Given the description of an element on the screen output the (x, y) to click on. 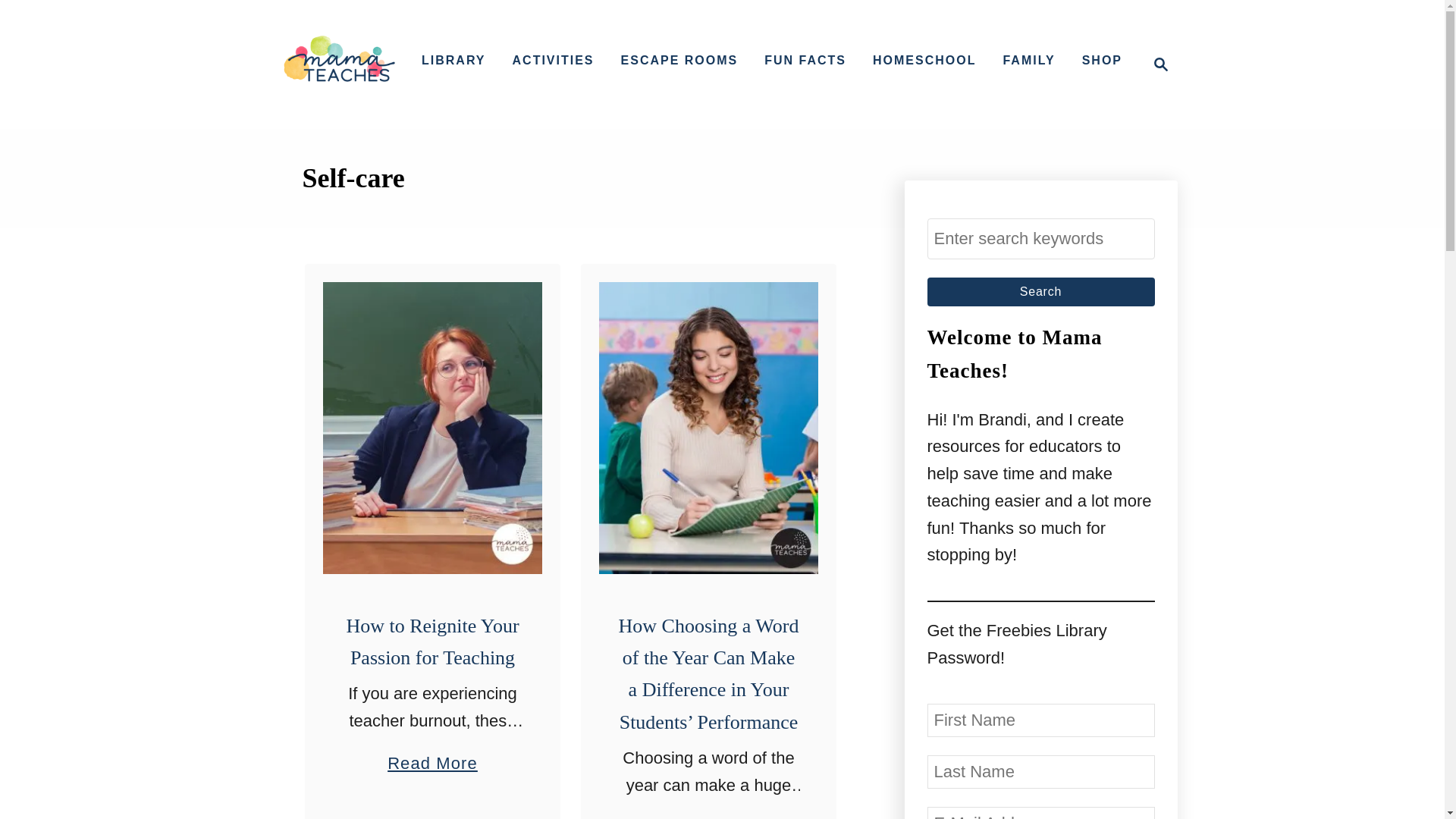
Mama Teaches (339, 64)
FUN FACTS (1155, 64)
Search for: (805, 60)
Search (432, 755)
LIBRARY (1040, 238)
ESCAPE ROOMS (1040, 291)
Search (453, 60)
How to Reignite Your Passion for Teaching (678, 60)
